Given the description of an element on the screen output the (x, y) to click on. 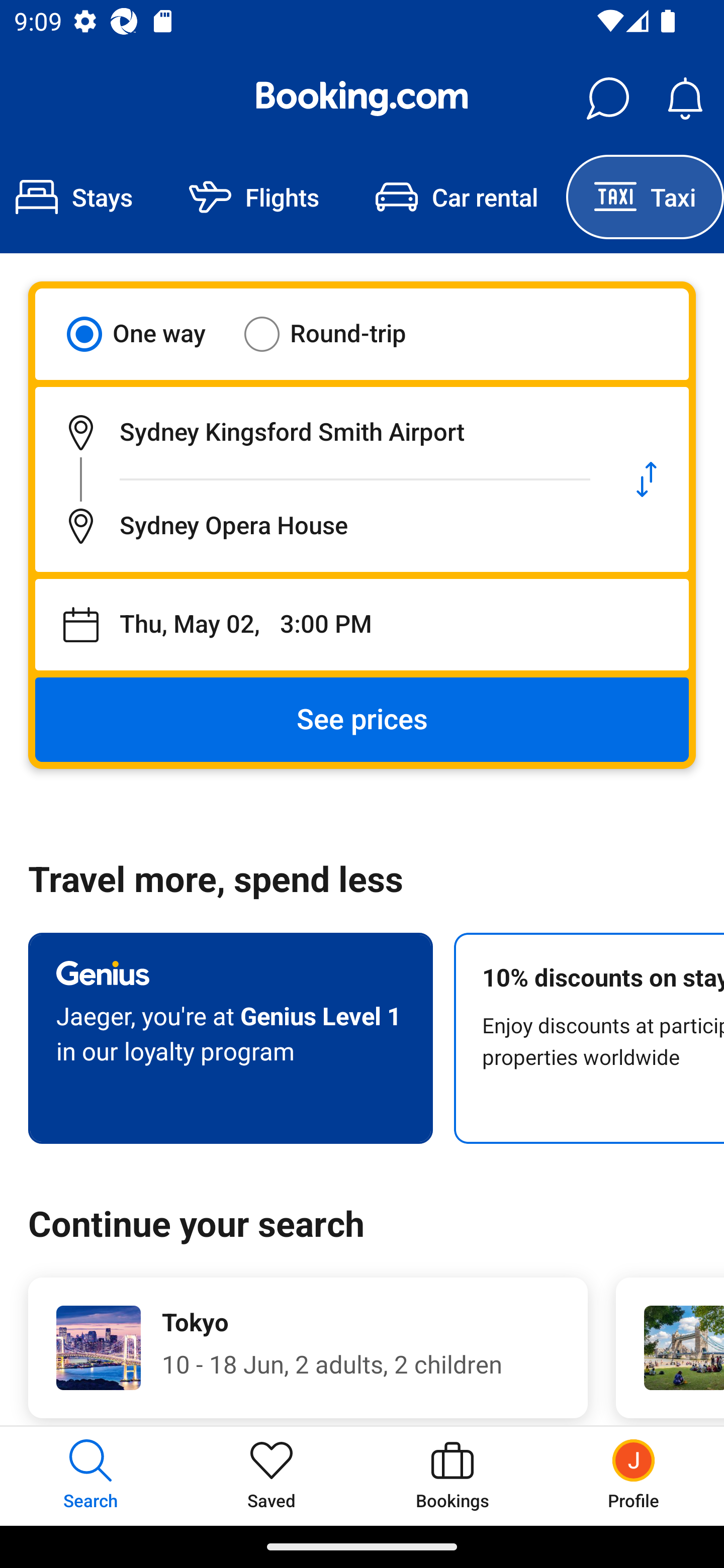
Messages (607, 98)
Notifications (685, 98)
Stays (80, 197)
Flights (253, 197)
Car rental (456, 197)
Taxi (645, 197)
Round-trip (337, 333)
Pick-up location: Sydney Kingsford Smith Airport (319, 432)
Swap pick-up location and destination (646, 479)
Destination: Sydney Opera House (319, 525)
Pick-up date: Thu, May 02 3:00 PM (361, 624)
See prices (361, 719)
Tokyo 10 - 18 Jun, 2 adults, 2 children (307, 1347)
Saved (271, 1475)
Bookings (452, 1475)
Profile (633, 1475)
